Given the description of an element on the screen output the (x, y) to click on. 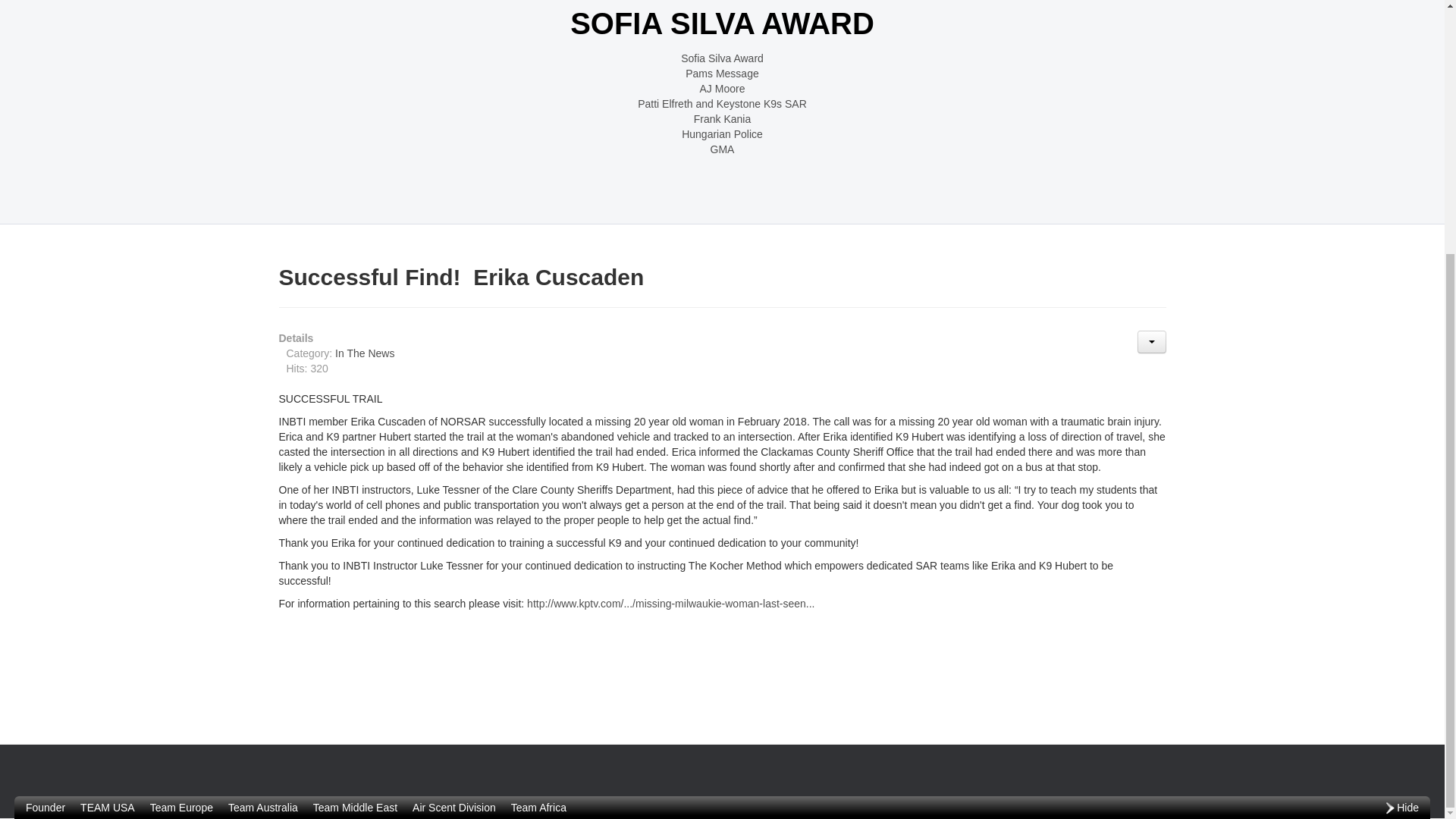
Patti Elfreth and Keystone K9s SAR (722, 103)
Air Scent Division (454, 448)
Team Australia (263, 448)
Team Africa (538, 448)
Pams Message (722, 73)
AJ Moore (722, 88)
GMA (722, 149)
Hungarian Police (722, 133)
TEAM USA (107, 448)
Sofia Silva Award (722, 58)
